Given the description of an element on the screen output the (x, y) to click on. 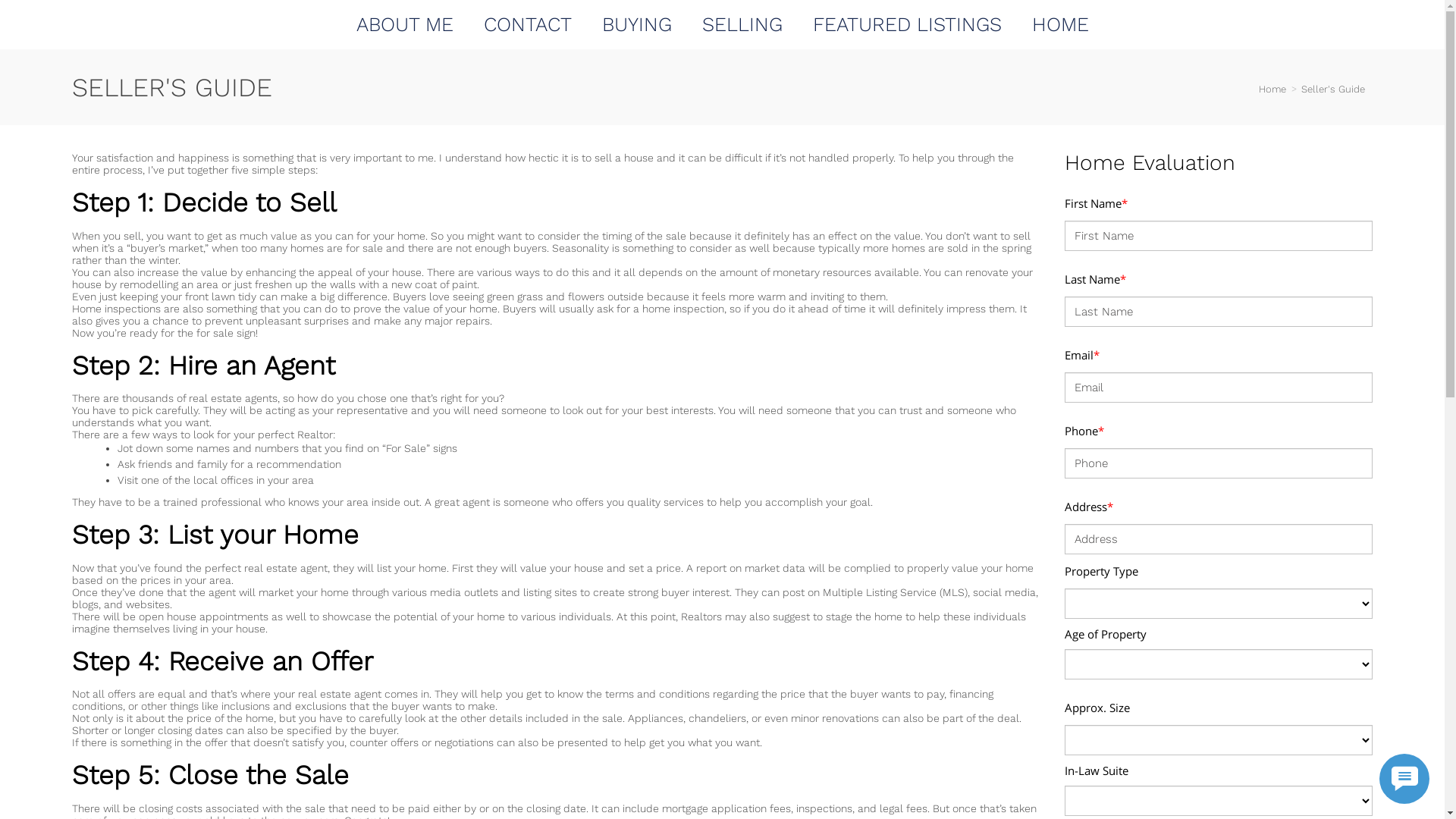
ABOUT ME Element type: text (404, 24)
HOME Element type: text (1059, 24)
CONTACT Element type: text (527, 24)
Live Chat Element type: hover (1404, 778)
Seller's Guide Element type: text (1333, 88)
Home Element type: text (1272, 88)
FEATURED LISTINGS Element type: text (906, 24)
